Given the description of an element on the screen output the (x, y) to click on. 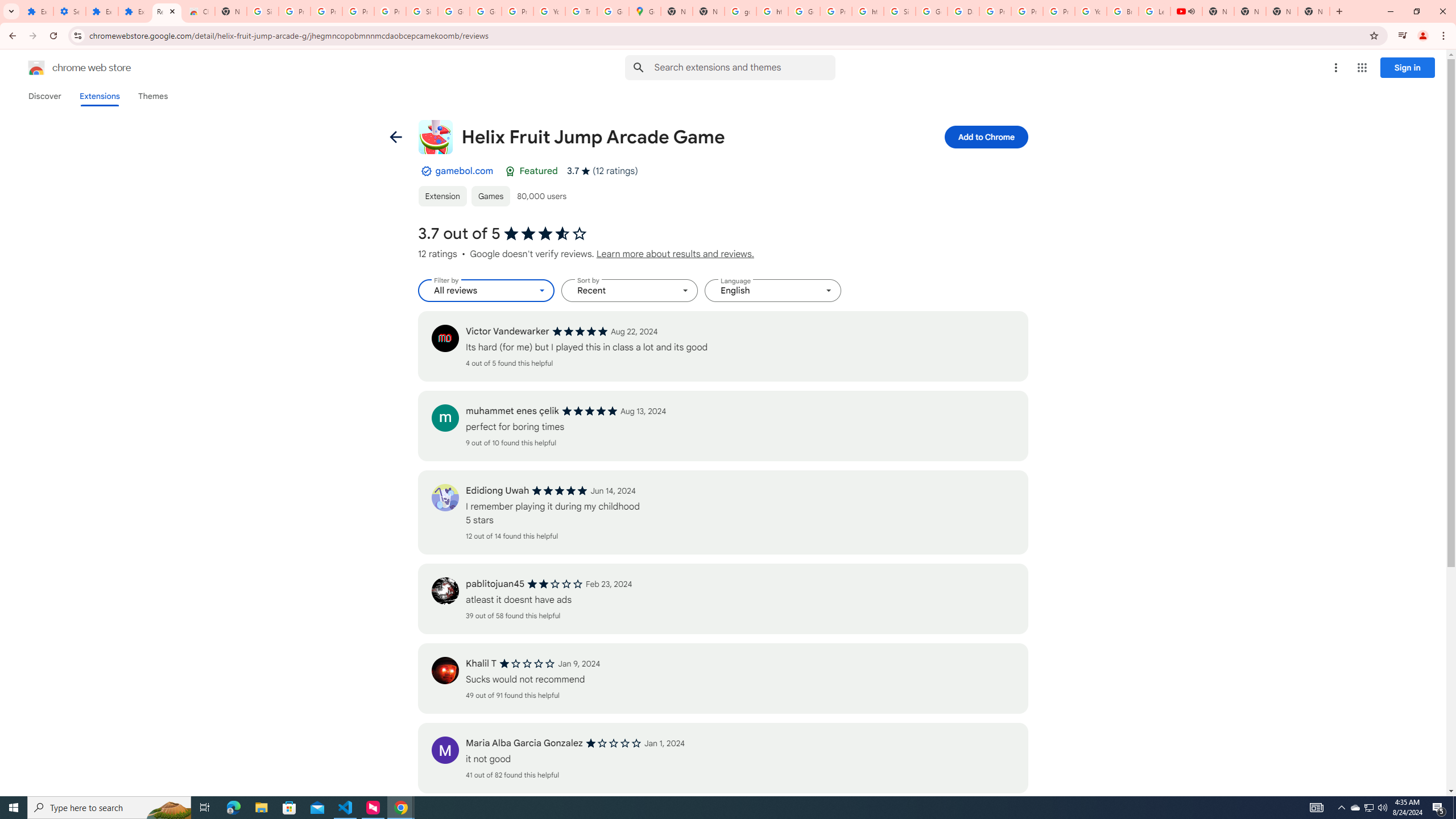
Average rating 3.7 out of 5 stars. 12 ratings. (601, 170)
YouTube (549, 11)
1 out of 5 stars (613, 743)
5 out of 5 stars (559, 490)
Navigate back to item detail page (395, 136)
Privacy Help Center - Policies Help (995, 11)
Sign in - Google Accounts (899, 11)
Extensions (101, 11)
